Given the description of an element on the screen output the (x, y) to click on. 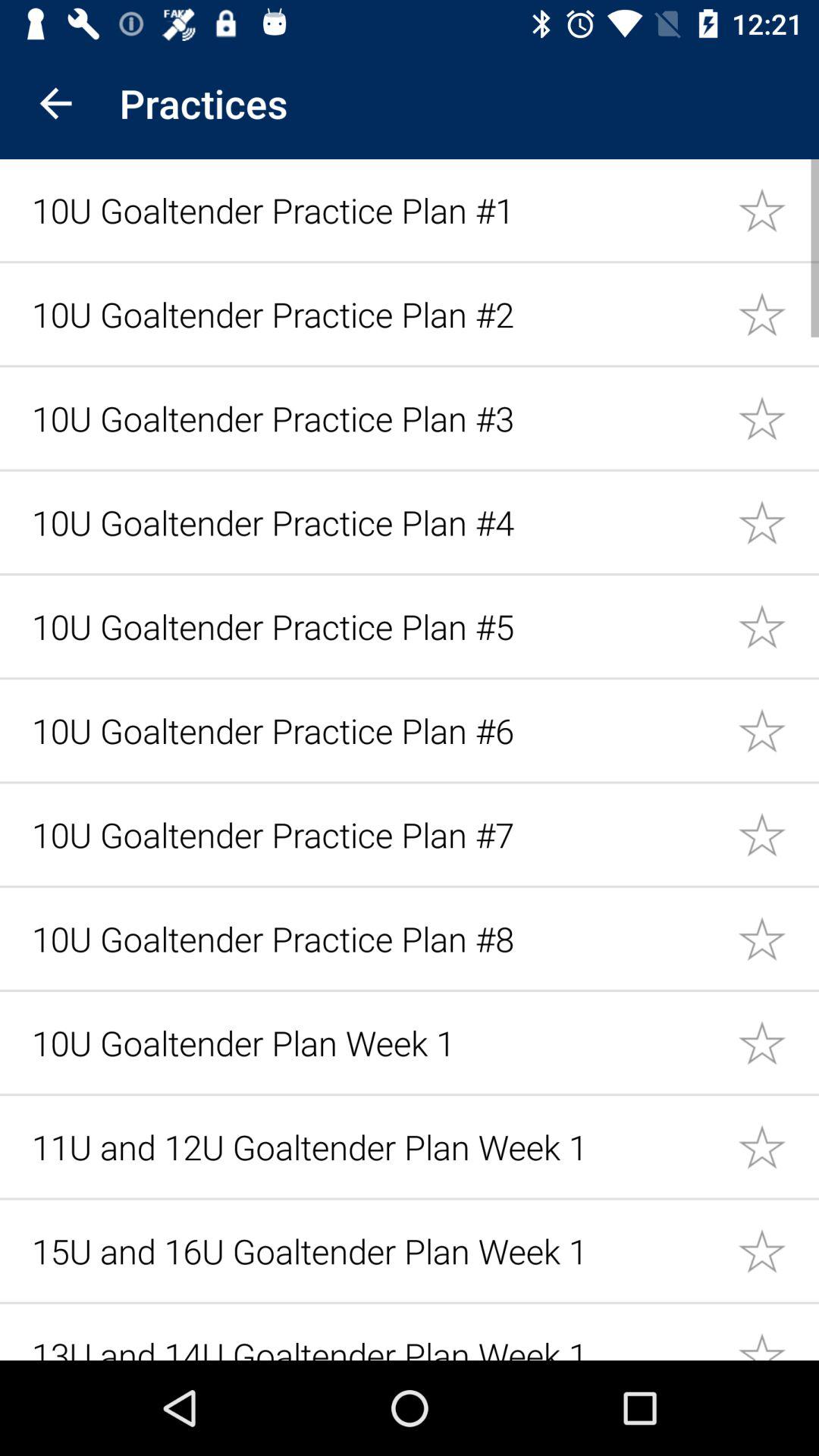
favorite button to show that user liked (778, 313)
